Given the description of an element on the screen output the (x, y) to click on. 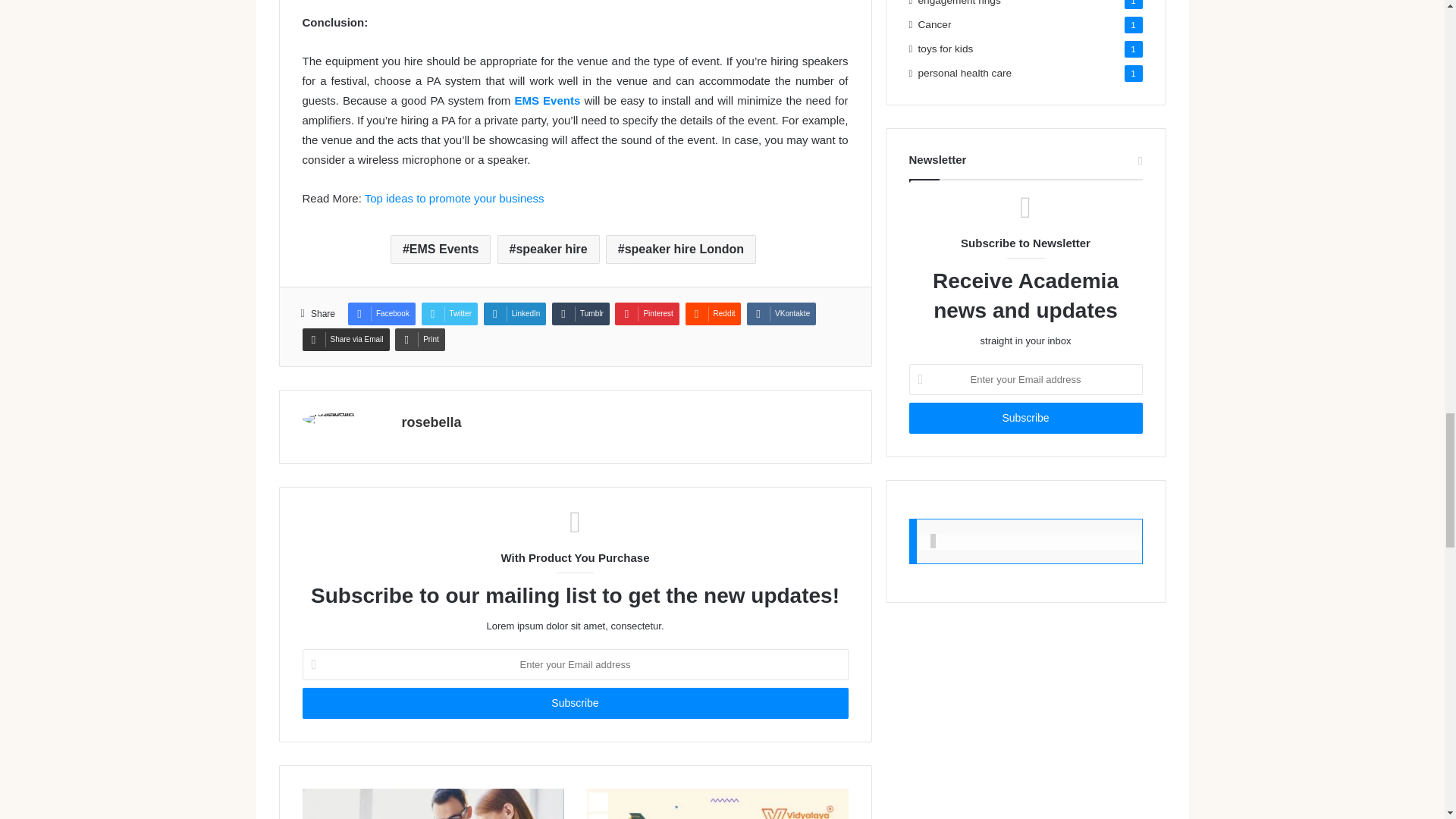
Facebook (380, 313)
Pinterest (646, 313)
Reddit (713, 313)
Share via Email (344, 339)
EMS Events (548, 100)
LinkedIn (515, 313)
Subscribe (1025, 418)
Subscribe (574, 703)
speaker hire (548, 249)
Twitter (449, 313)
